Given the description of an element on the screen output the (x, y) to click on. 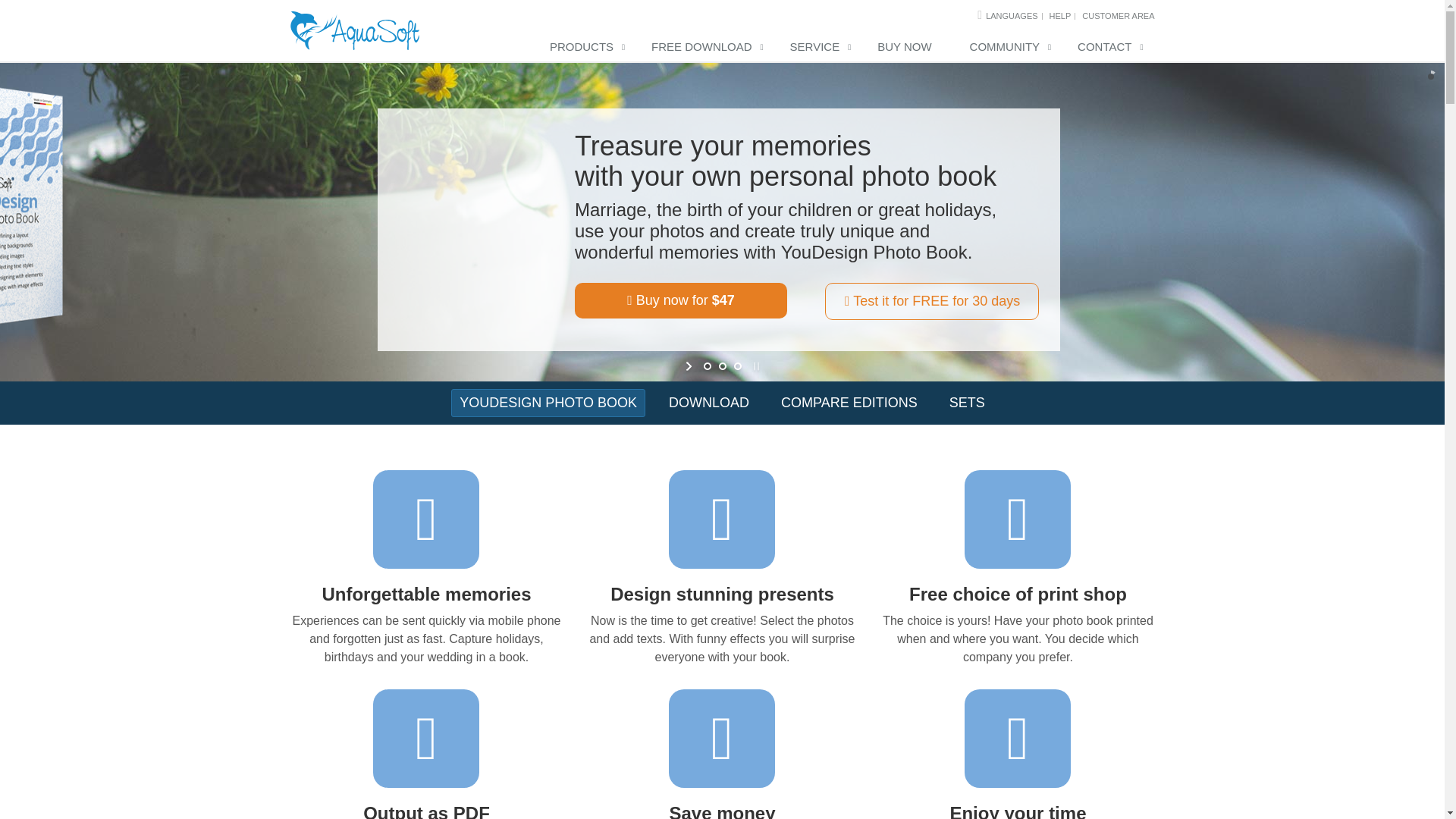
PRODUCTS (585, 47)
FREE DOWNLOAD (705, 47)
HELP (1060, 15)
SERVICE (818, 47)
CUSTOMER AREA (1117, 15)
LANGUAGES (1010, 15)
BUY NOW (907, 47)
COMMUNITY (1008, 47)
